Given the description of an element on the screen output the (x, y) to click on. 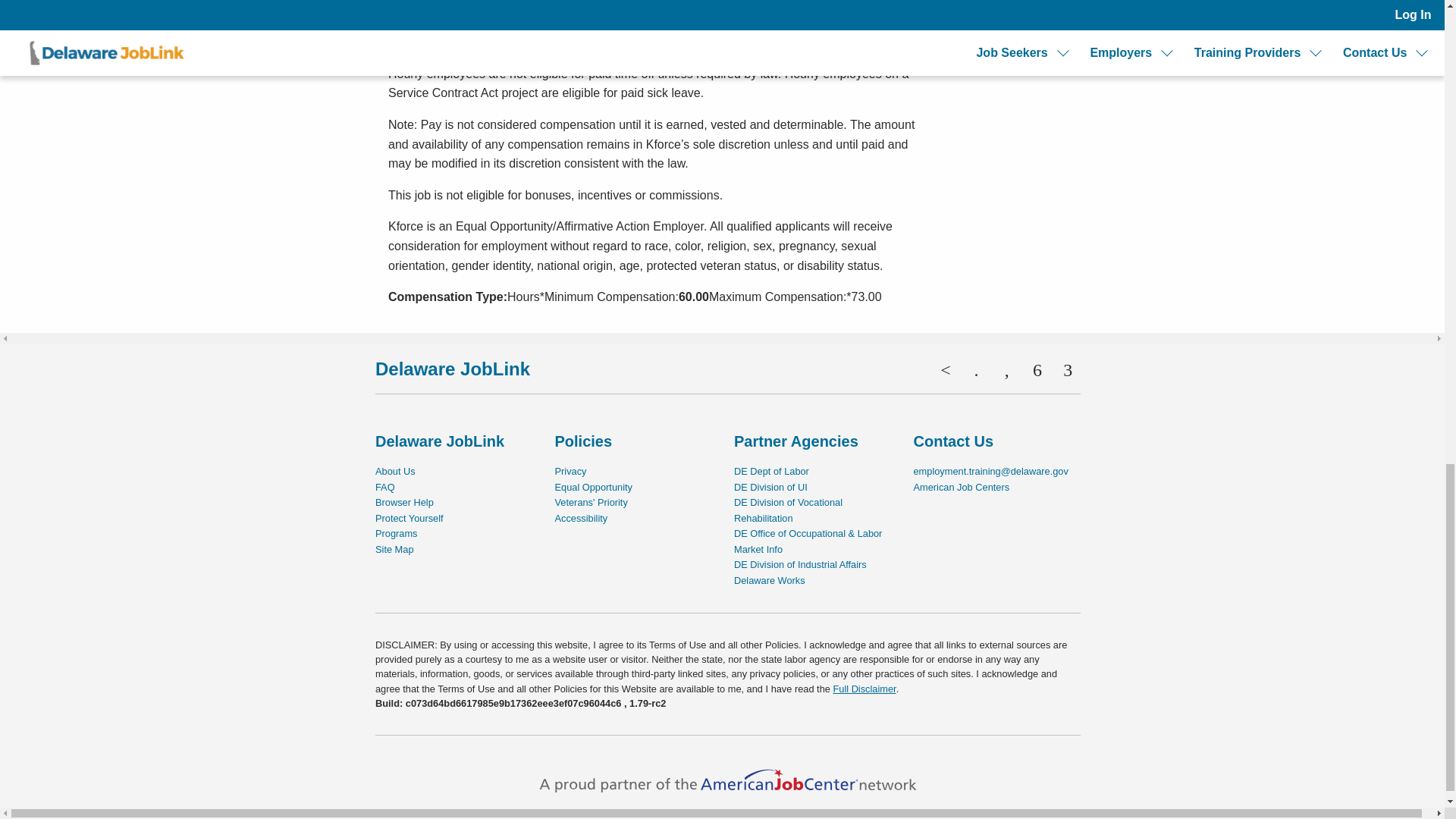
About Us (394, 471)
Site Map (394, 549)
Delaware JobLink (452, 369)
Protect Yourself (409, 518)
Programs (395, 532)
FAQ (384, 487)
Browser Help (404, 501)
